Given the description of an element on the screen output the (x, y) to click on. 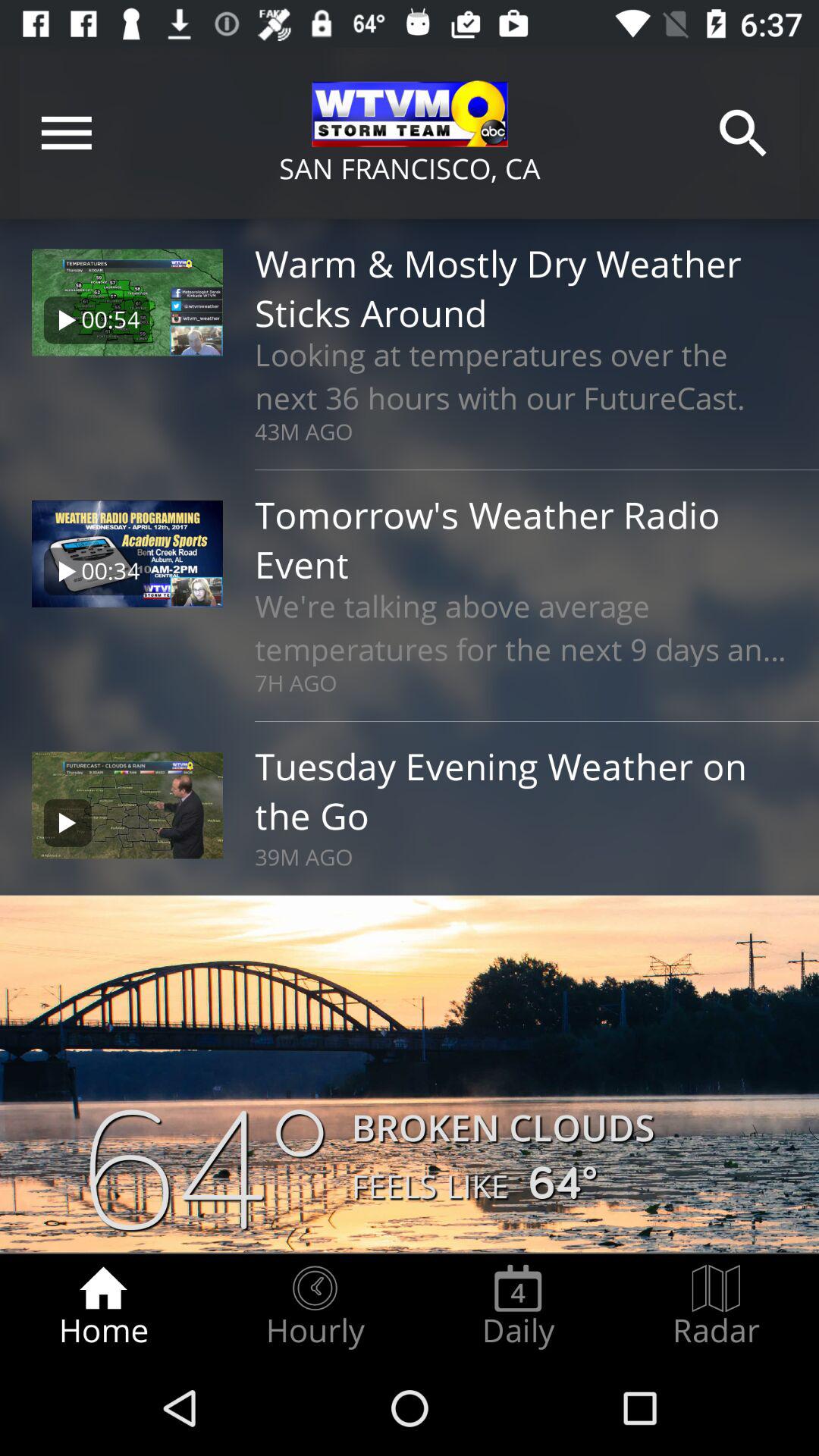
swipe to home item (103, 1307)
